Given the description of an element on the screen output the (x, y) to click on. 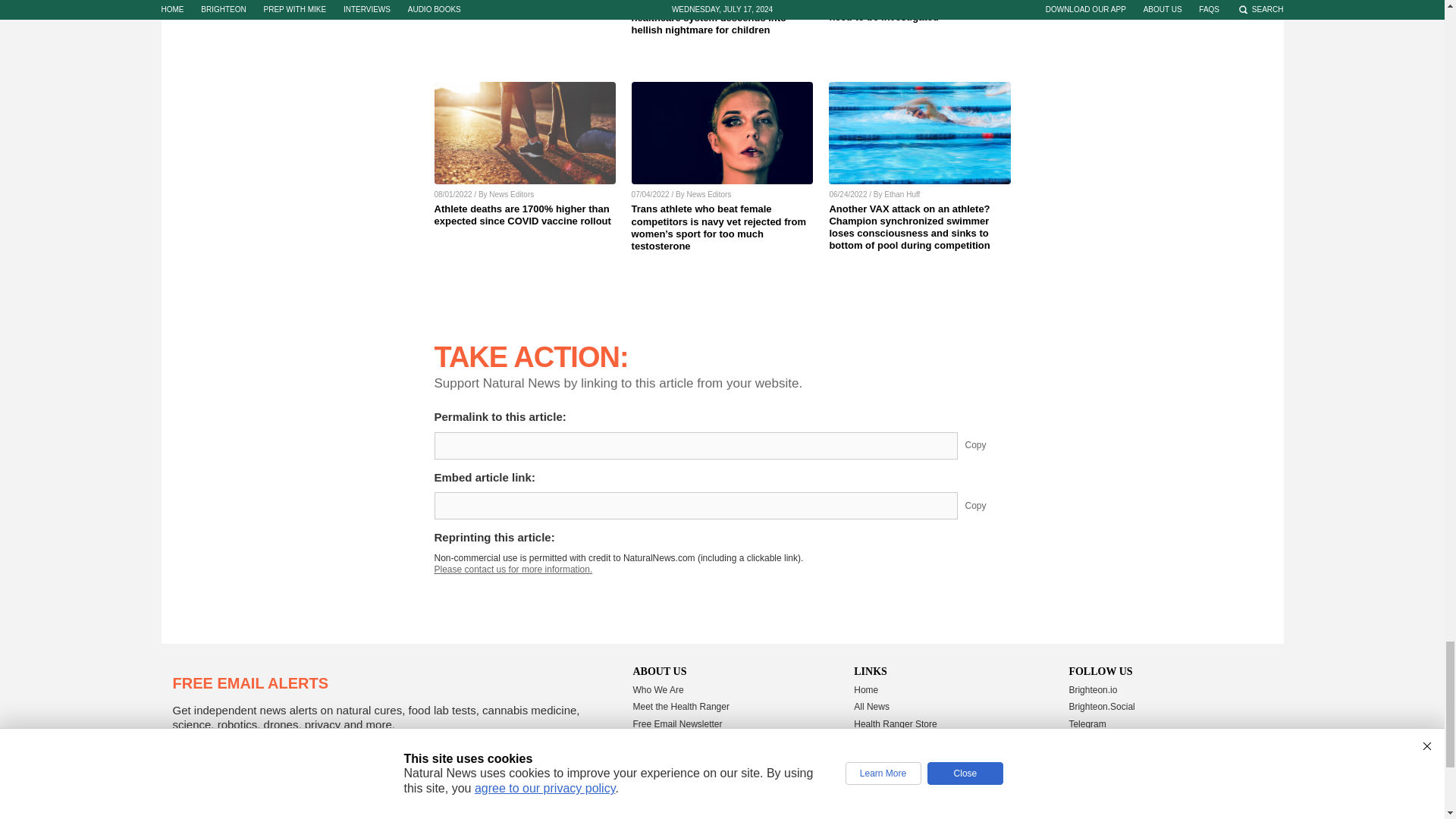
Copy Permalink (986, 445)
Copy Embed Link (986, 505)
Continue (459, 760)
